Given the description of an element on the screen output the (x, y) to click on. 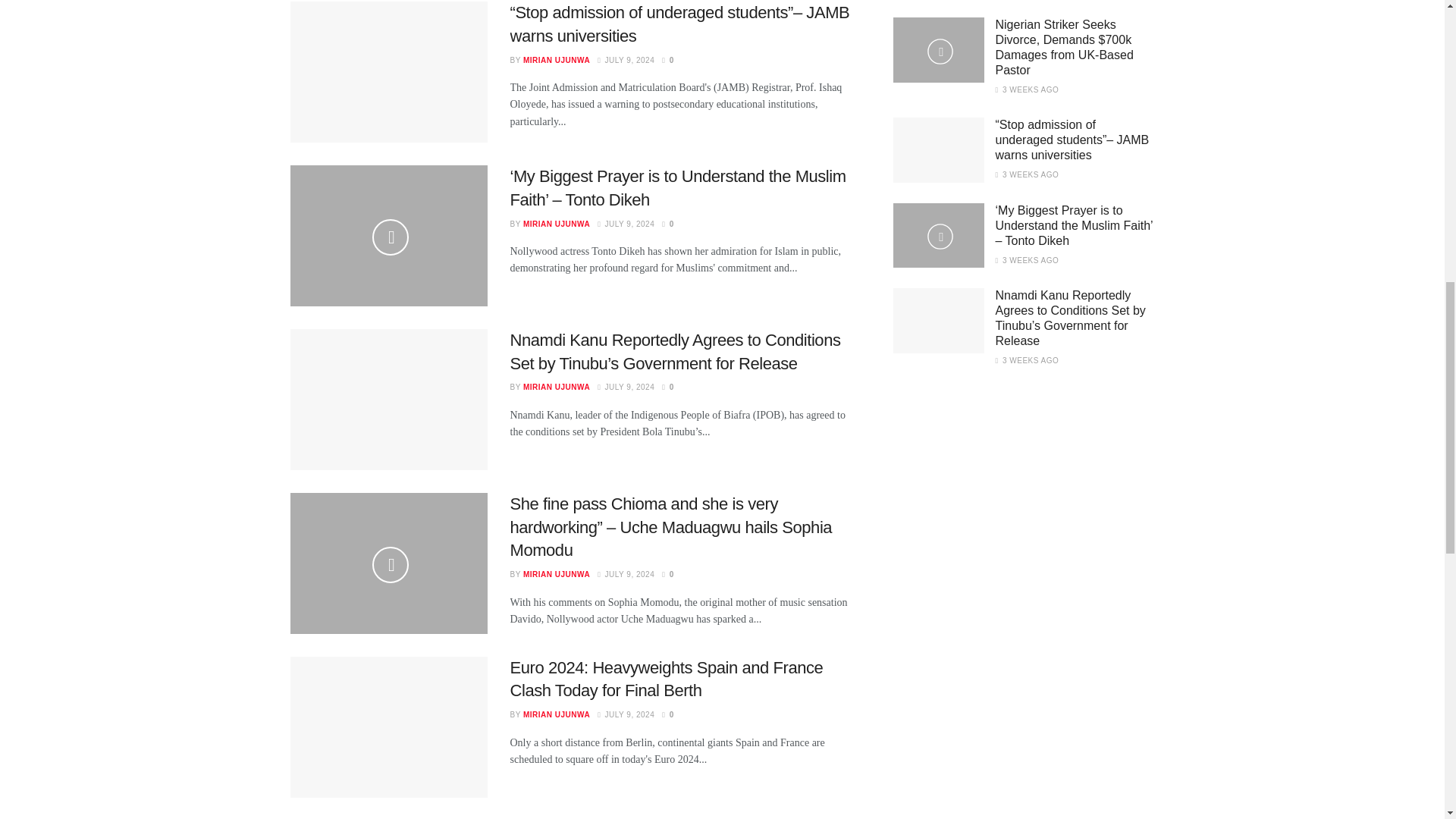
JULY 9, 2024 (624, 387)
MIRIAN UJUNWA (555, 224)
0 (668, 60)
0 (668, 224)
MIRIAN UJUNWA (555, 60)
JULY 9, 2024 (624, 224)
JULY 9, 2024 (624, 60)
0 (668, 387)
MIRIAN UJUNWA (555, 387)
